Given the description of an element on the screen output the (x, y) to click on. 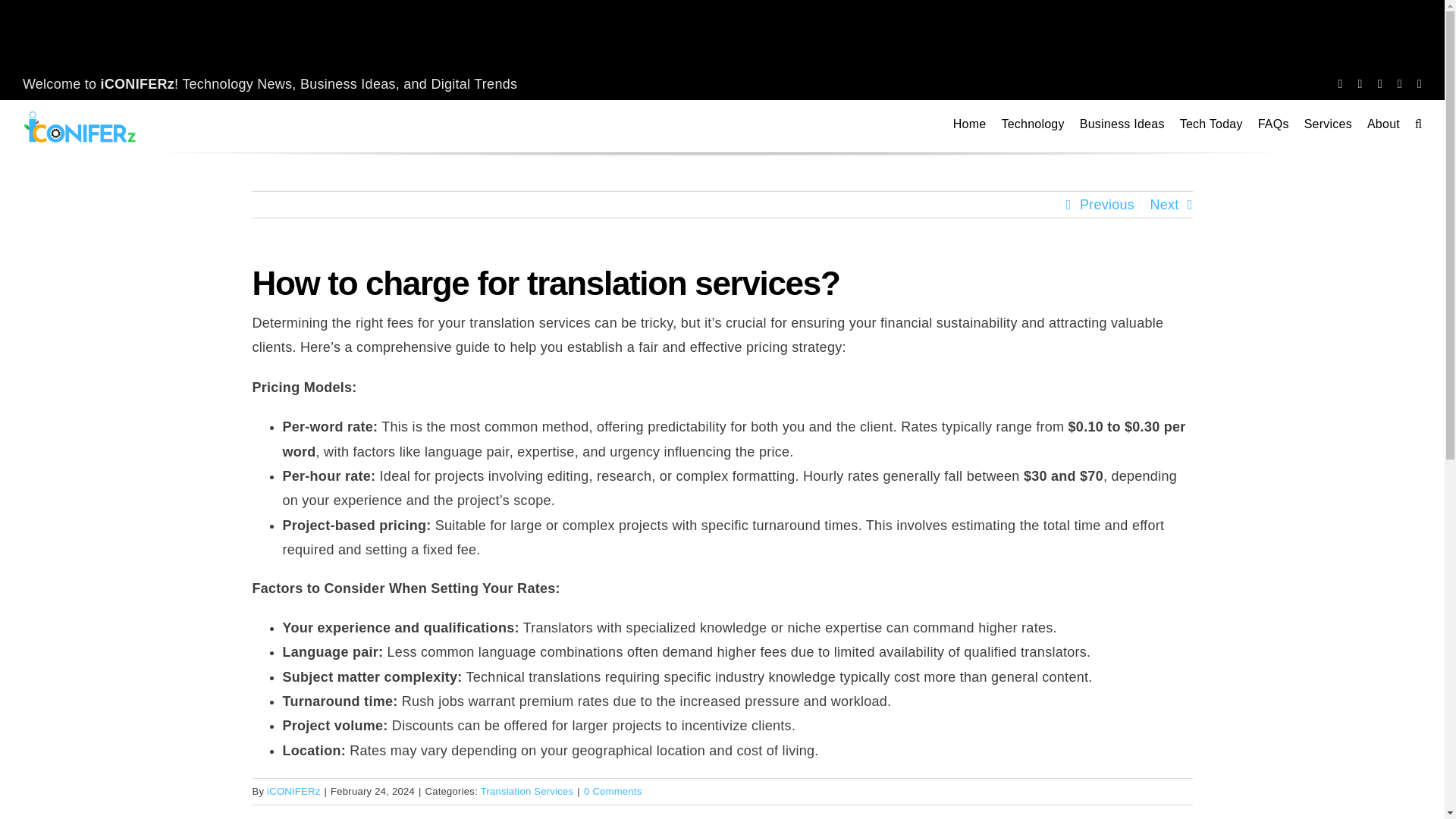
Posts by iCONIFERz (293, 790)
Services (1328, 123)
Tech Today (1211, 123)
Next (1163, 204)
iCONIFERz (293, 790)
0 Comments (612, 790)
Business Ideas (1122, 123)
Technology (1032, 123)
Previous (1107, 204)
Translation Services (526, 790)
Advertisement (721, 33)
